Given the description of an element on the screen output the (x, y) to click on. 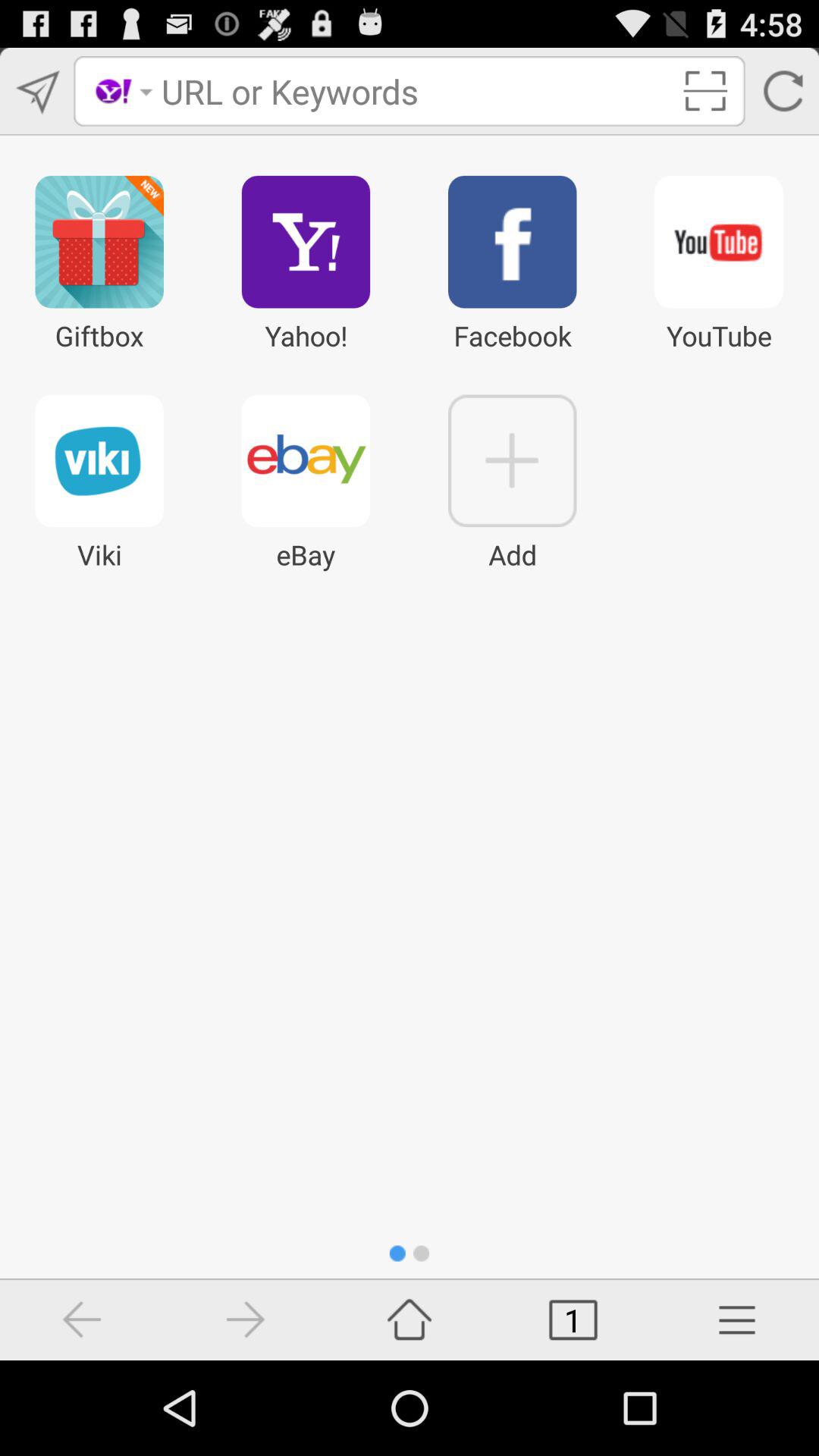
open item below the viki app (81, 1319)
